Given the description of an element on the screen output the (x, y) to click on. 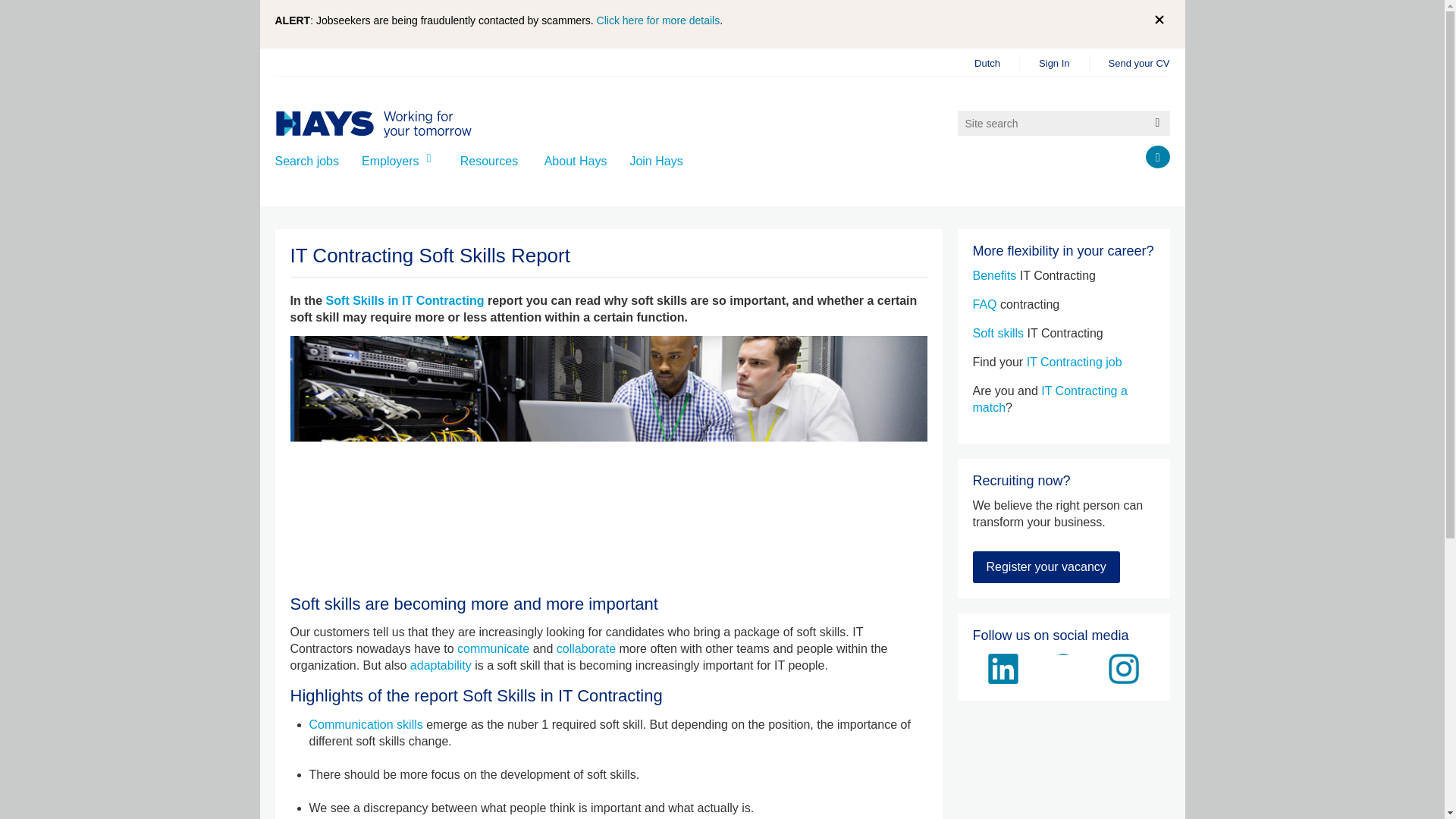
Follow Hays on LinkedIn - Hays.nl (1002, 668)
Click here for more details (658, 20)
Dutch (987, 63)
Benefits (994, 275)
About Hays (575, 160)
Soft skills (997, 332)
Volg Hays op Instagram - Hays.nl (1123, 668)
IT Contracting a match (1049, 399)
IT Contracting job (1074, 361)
